Given the description of an element on the screen output the (x, y) to click on. 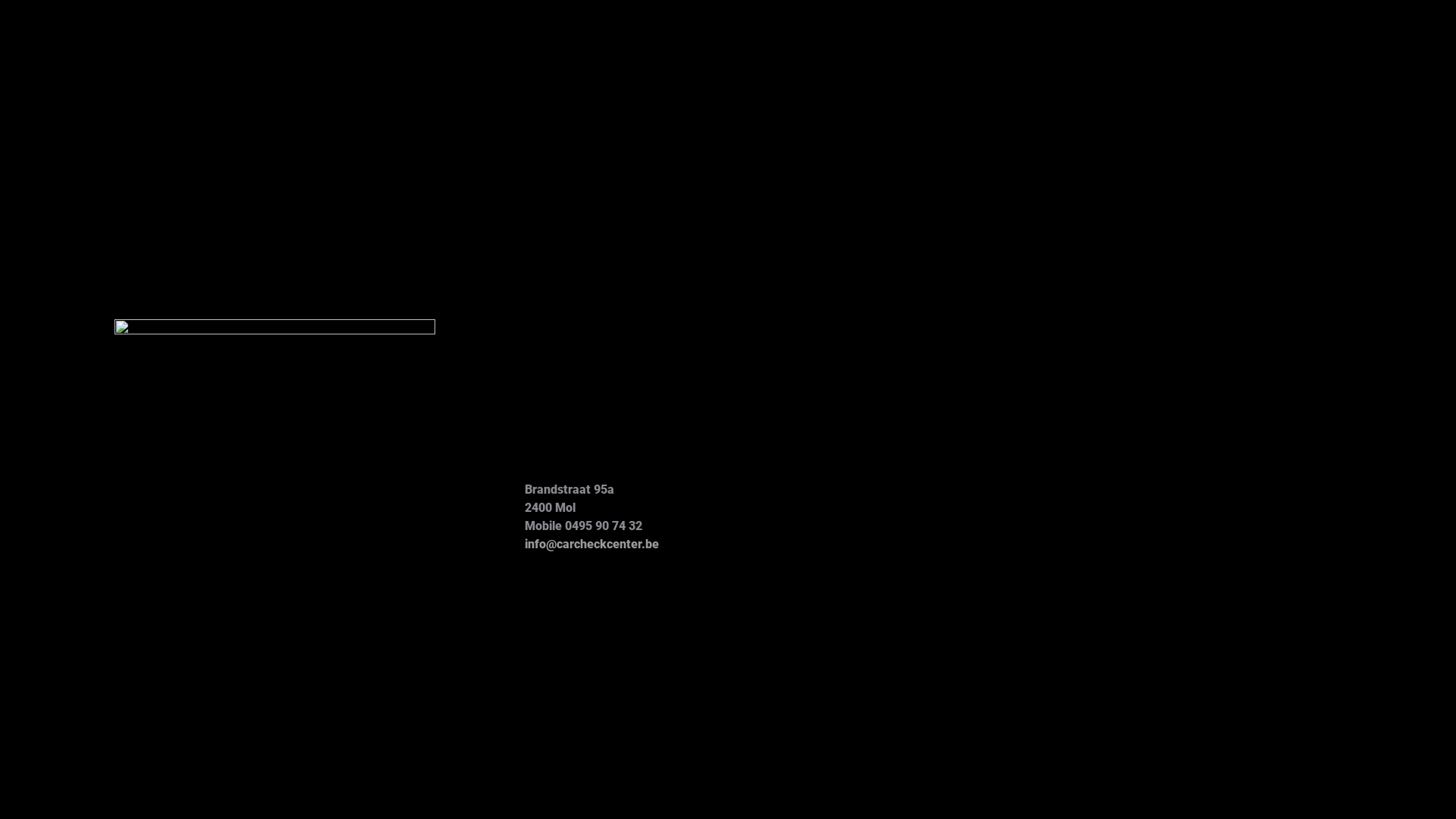
info@carcheckcenter.be Element type: text (591, 543)
